Given the description of an element on the screen output the (x, y) to click on. 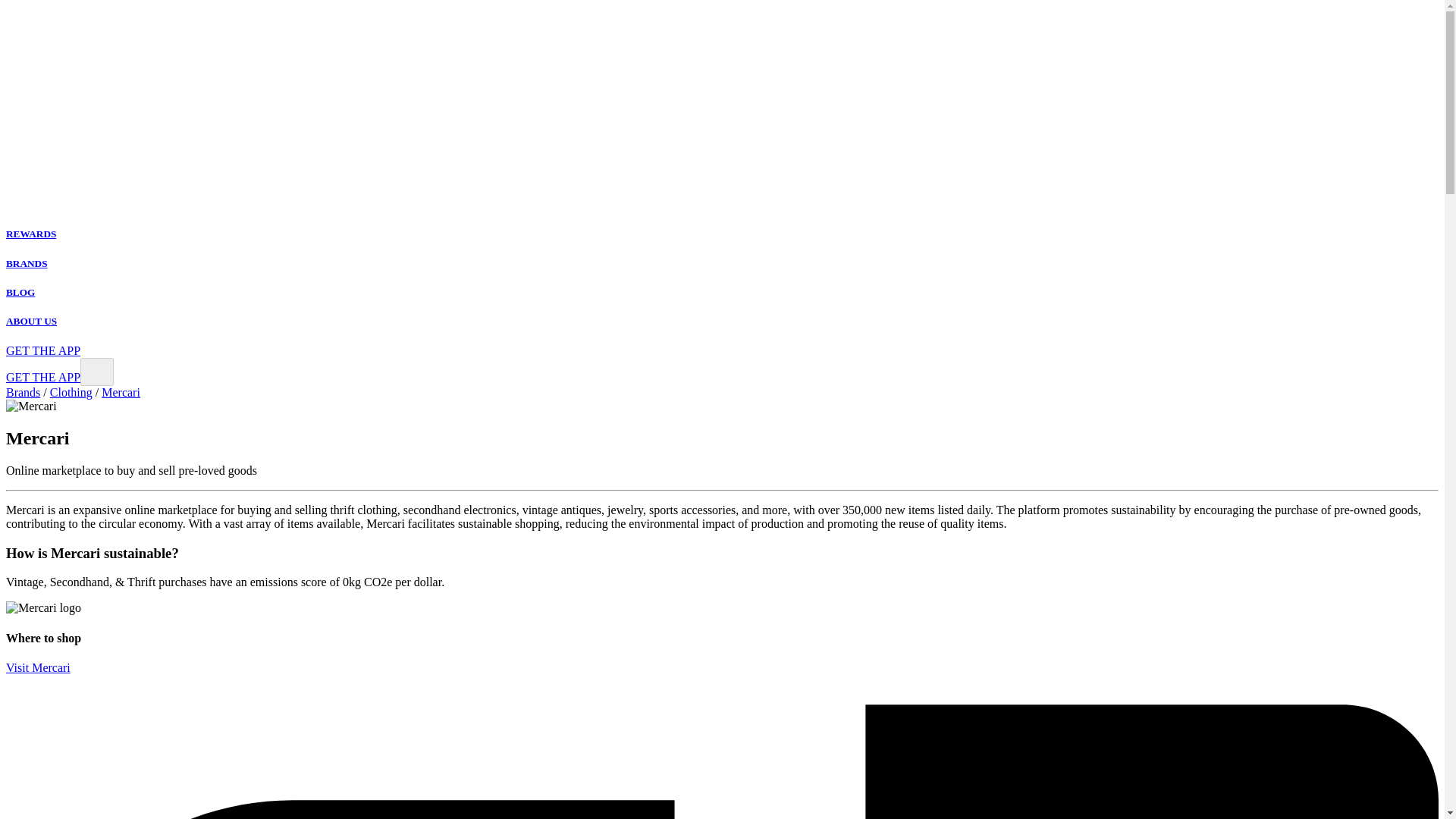
Clothing (71, 391)
BLOG (19, 292)
REWARDS (30, 233)
BRANDS (26, 263)
Brands (22, 391)
GET THE APP (42, 350)
Mercari (120, 391)
ABOUT US (30, 320)
GET THE APP (42, 377)
